Given the description of an element on the screen output the (x, y) to click on. 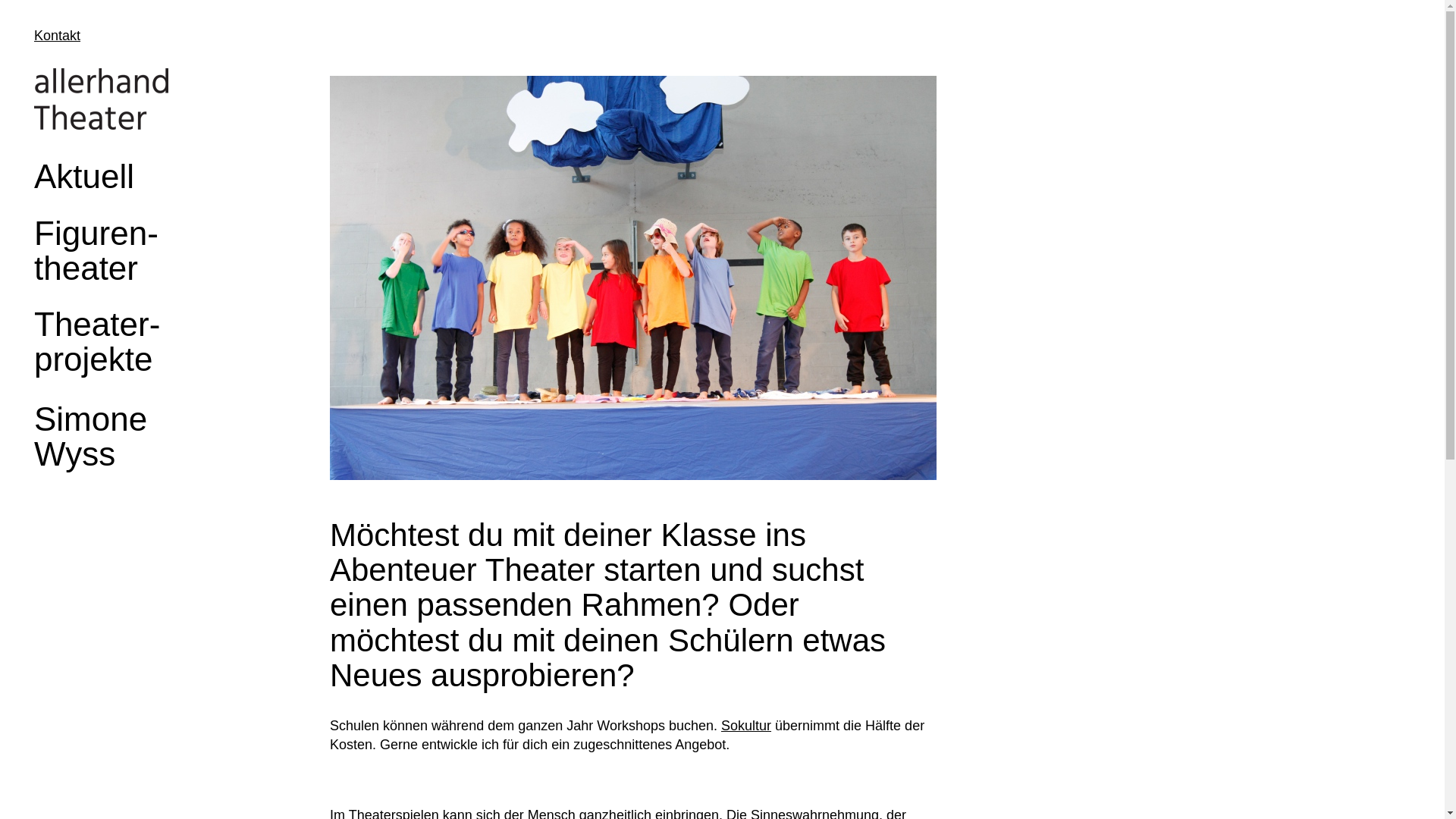
Sokultur Element type: text (746, 725)
Aktuell Element type: text (84, 175)
Kontakt Element type: text (57, 35)
Theater-projekte Element type: text (97, 341)
Figuren- theater Element type: text (96, 250)
Simone Wyss Element type: text (90, 436)
